Given the description of an element on the screen output the (x, y) to click on. 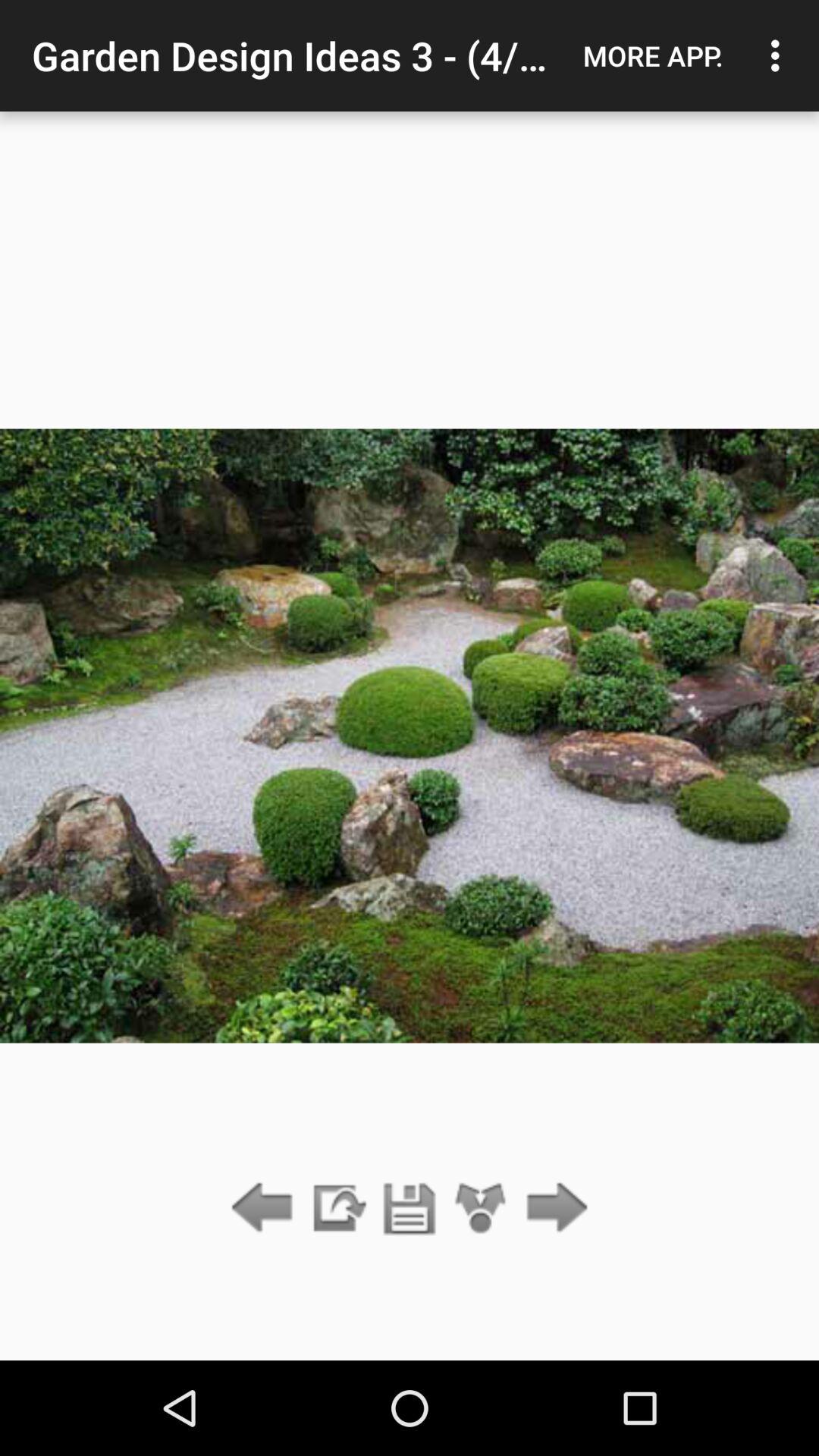
turn on more app. item (653, 55)
